Given the description of an element on the screen output the (x, y) to click on. 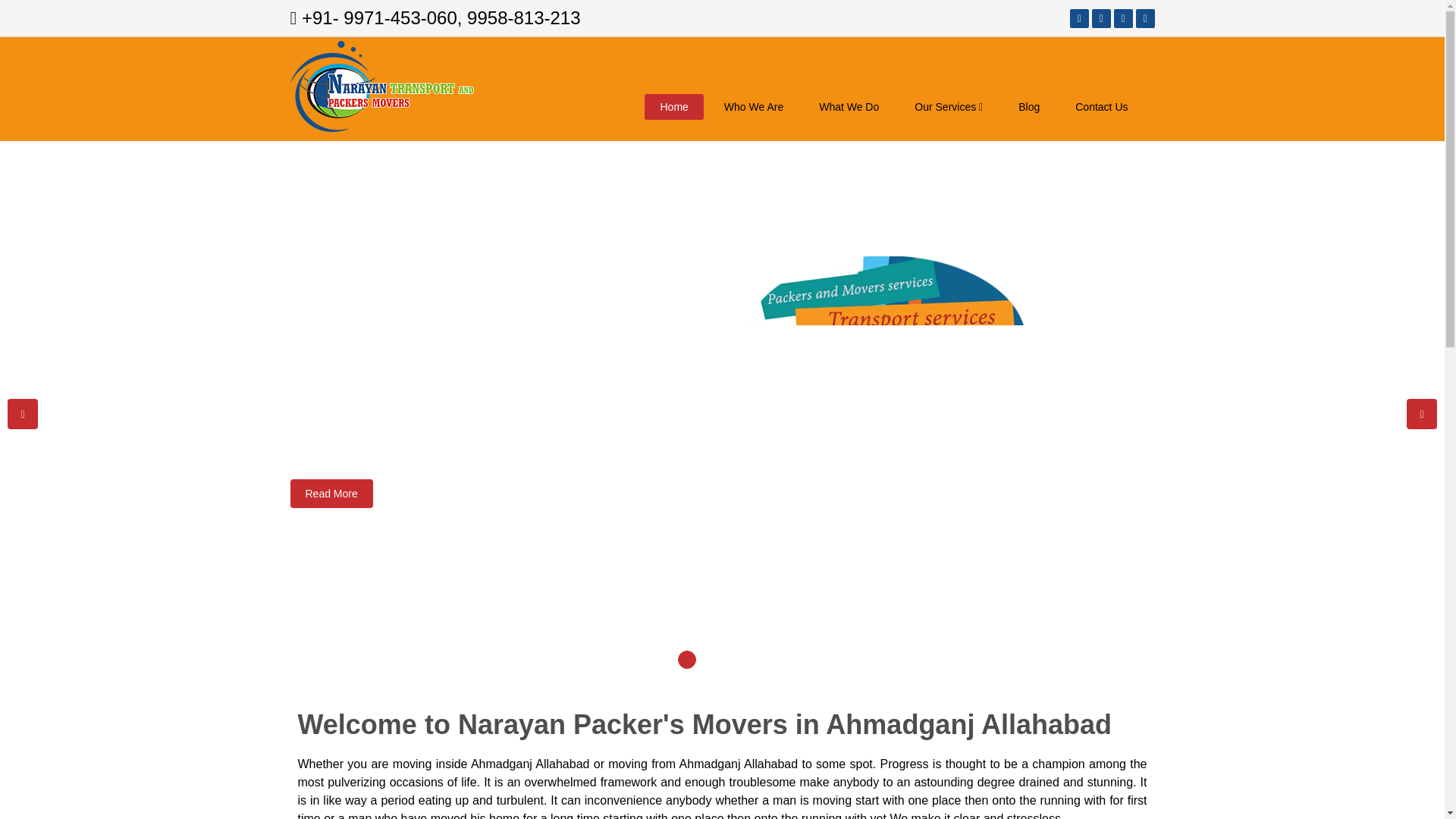
What We Do (848, 106)
Blog (1028, 106)
Contact Us (1100, 106)
Home (674, 106)
Who We Are (753, 106)
Our Services (948, 106)
